Given the description of an element on the screen output the (x, y) to click on. 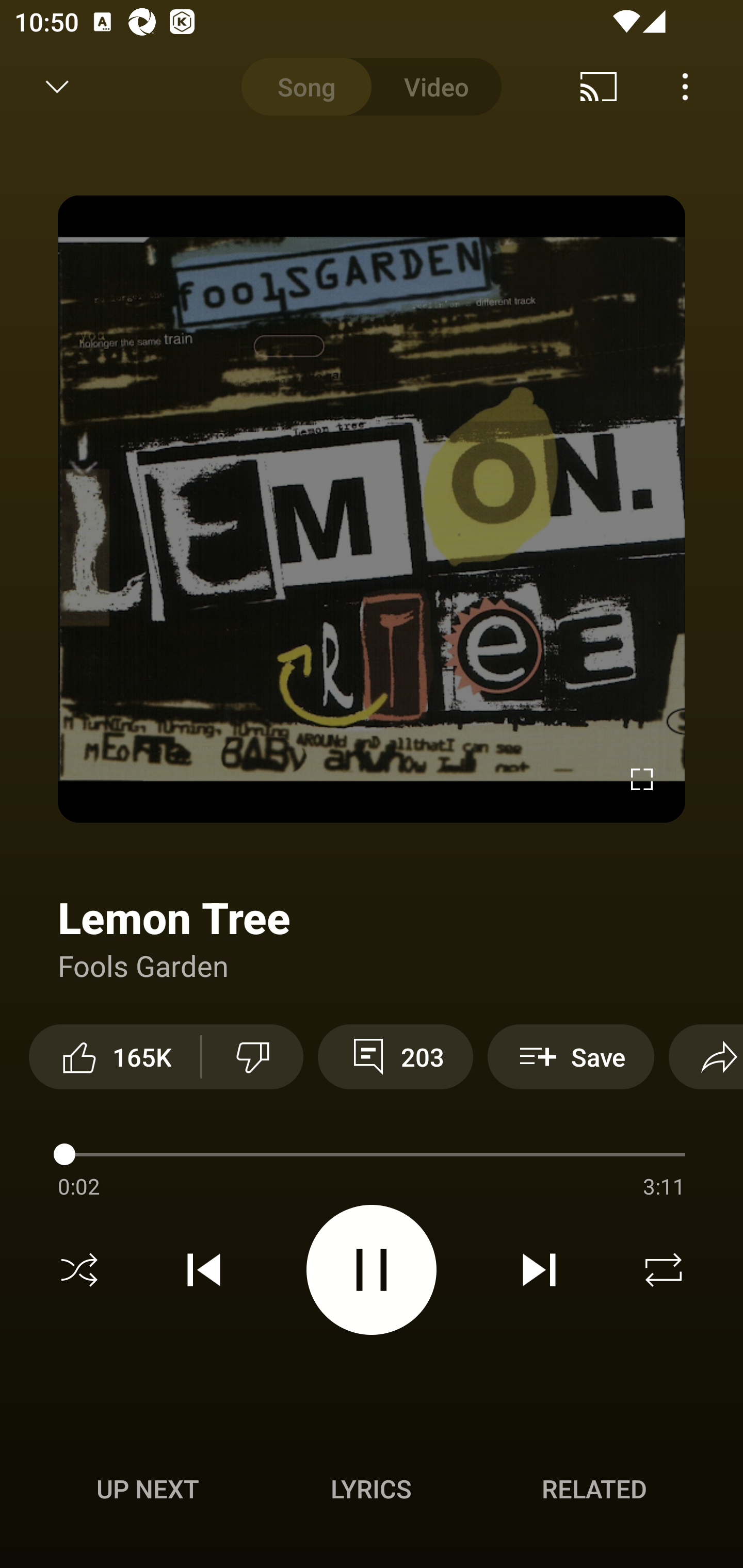
Minimize (57, 86)
Clear search (605, 86)
Voice search (699, 86)
Dislike (252, 1056)
203 View 203 comments (395, 1056)
Save Save to playlist (570, 1056)
Share (705, 1056)
Pause video (371, 1269)
Shuffle off (79, 1269)
Previous track (203, 1269)
Next track (538, 1269)
Repeat off (663, 1269)
Up next UP NEXT Lyrics LYRICS Related RELATED (371, 1491)
Lyrics LYRICS (370, 1488)
Related RELATED (594, 1488)
